Given the description of an element on the screen output the (x, y) to click on. 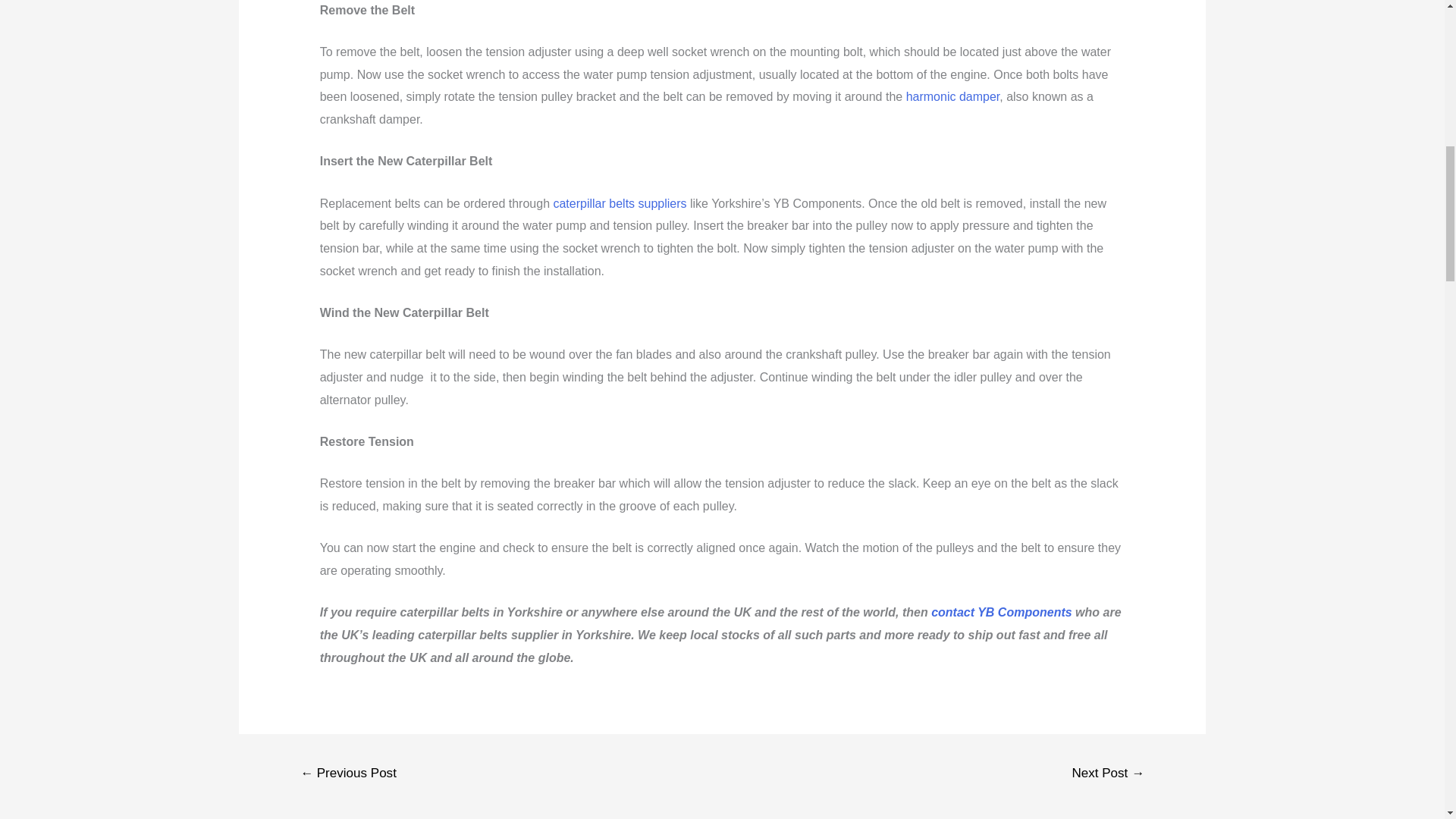
harmonic damper (952, 96)
contact YB Components (1001, 612)
caterpillar belts suppliers (619, 203)
